Given the description of an element on the screen output the (x, y) to click on. 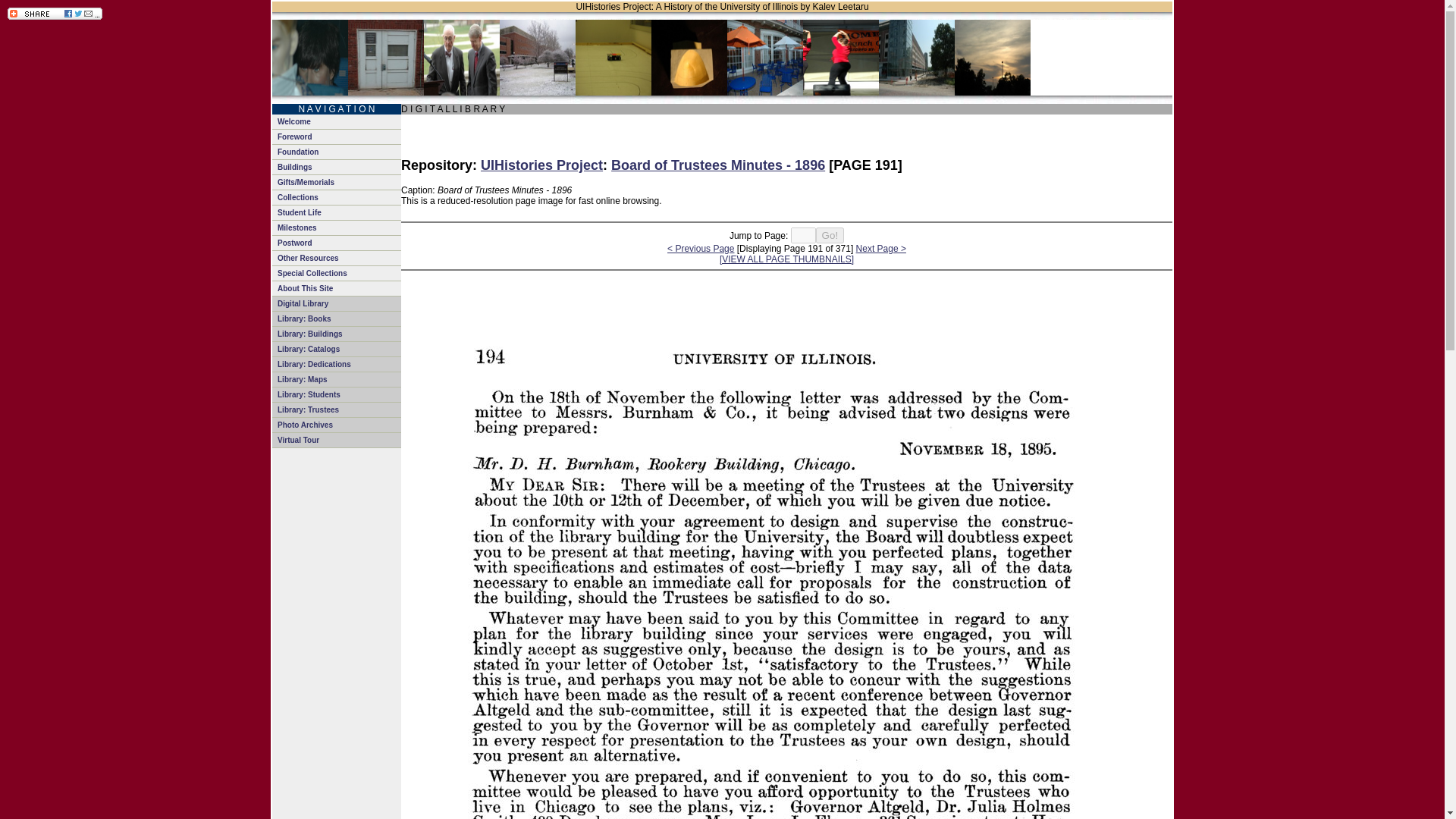
Library: Trustees (336, 409)
Foreword (336, 136)
Collections (336, 197)
Other Resources (336, 258)
Postword (336, 242)
UIHistories Project (541, 165)
Library: Students (336, 394)
Special Collections (336, 273)
Library: Catalogs (336, 349)
Foundation (336, 151)
Student Life (336, 212)
Library: Books (336, 319)
Buildings (336, 167)
Digital Library (336, 304)
Board of Trustees Minutes - 1896 (718, 165)
